Given the description of an element on the screen output the (x, y) to click on. 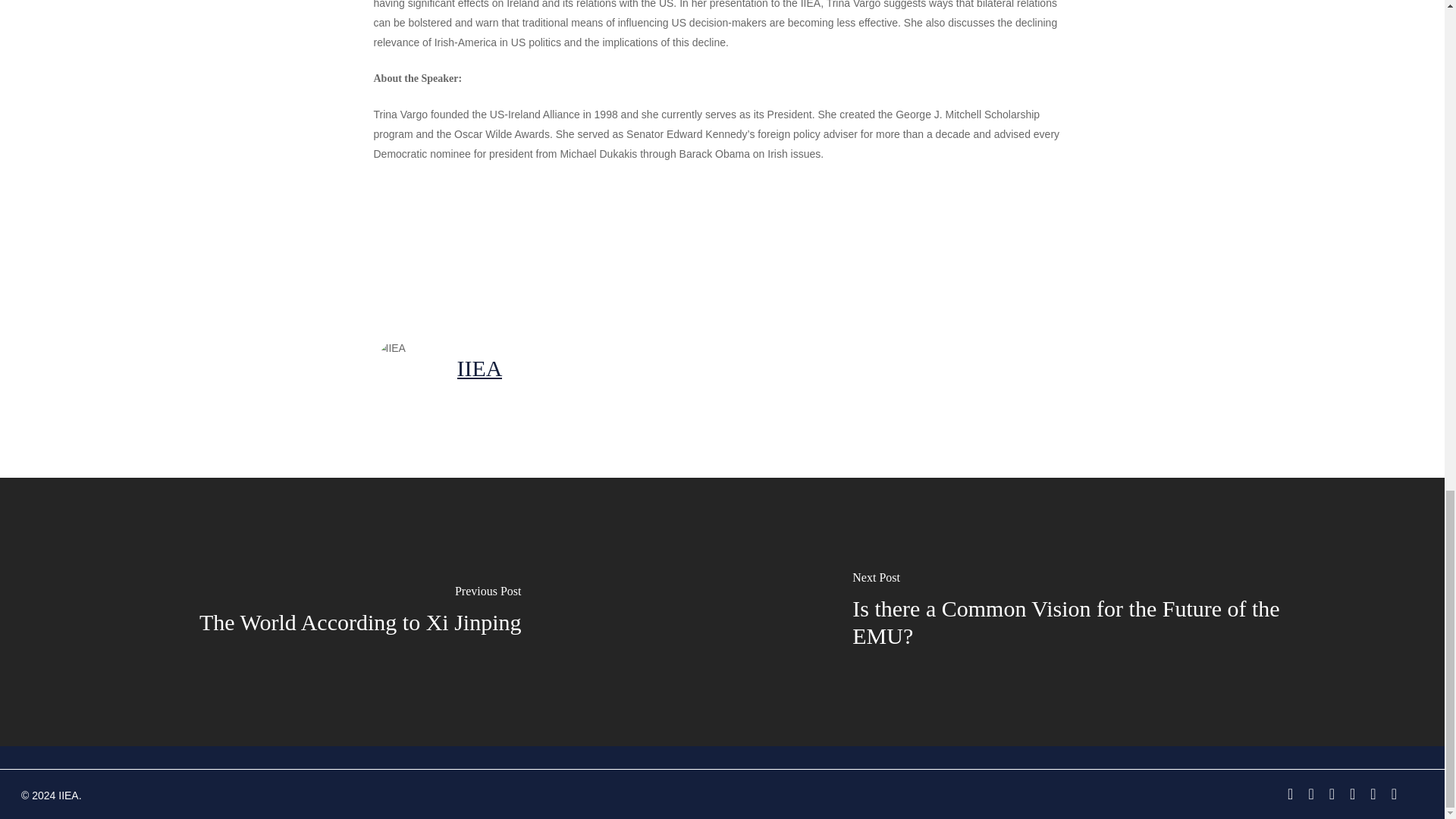
Share this (604, 246)
Share (604, 246)
Tweet this (510, 246)
Share (414, 246)
Share this (414, 246)
Pin (692, 246)
IIEA (479, 367)
Pin this (692, 246)
Tweet (510, 246)
